Given the description of an element on the screen output the (x, y) to click on. 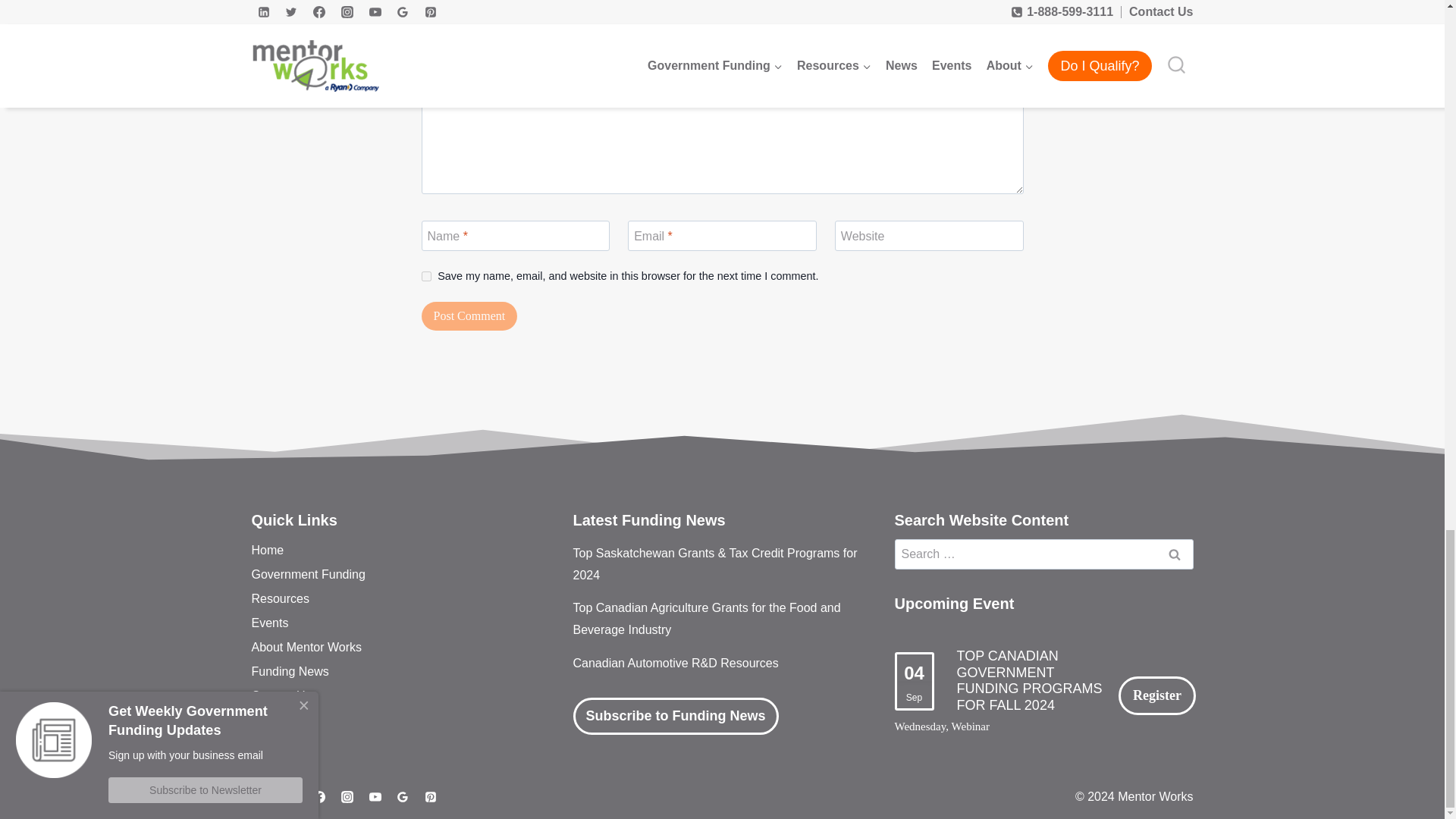
Post Comment (470, 316)
yes (426, 276)
Search (1174, 553)
Search (1174, 553)
